Given the description of an element on the screen output the (x, y) to click on. 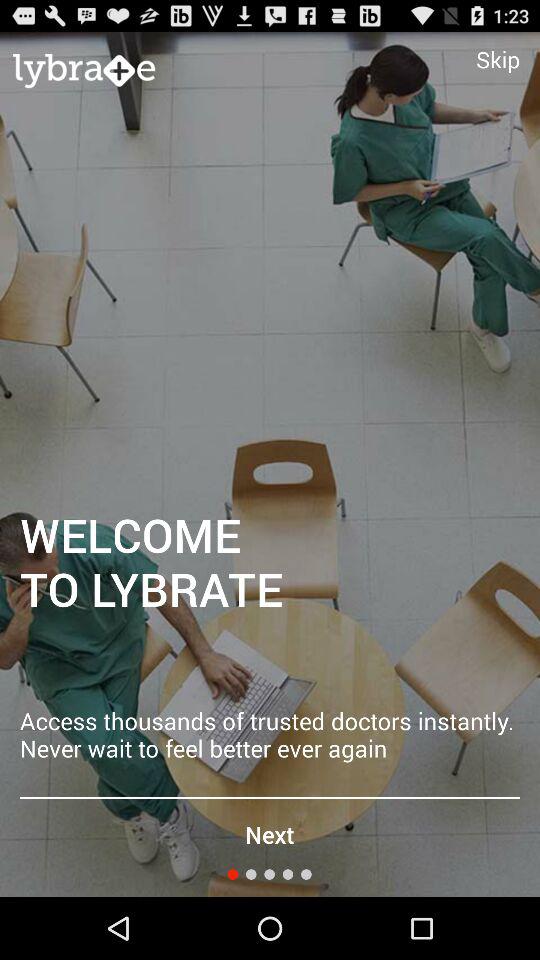
swipe until the skip item (498, 59)
